Given the description of an element on the screen output the (x, y) to click on. 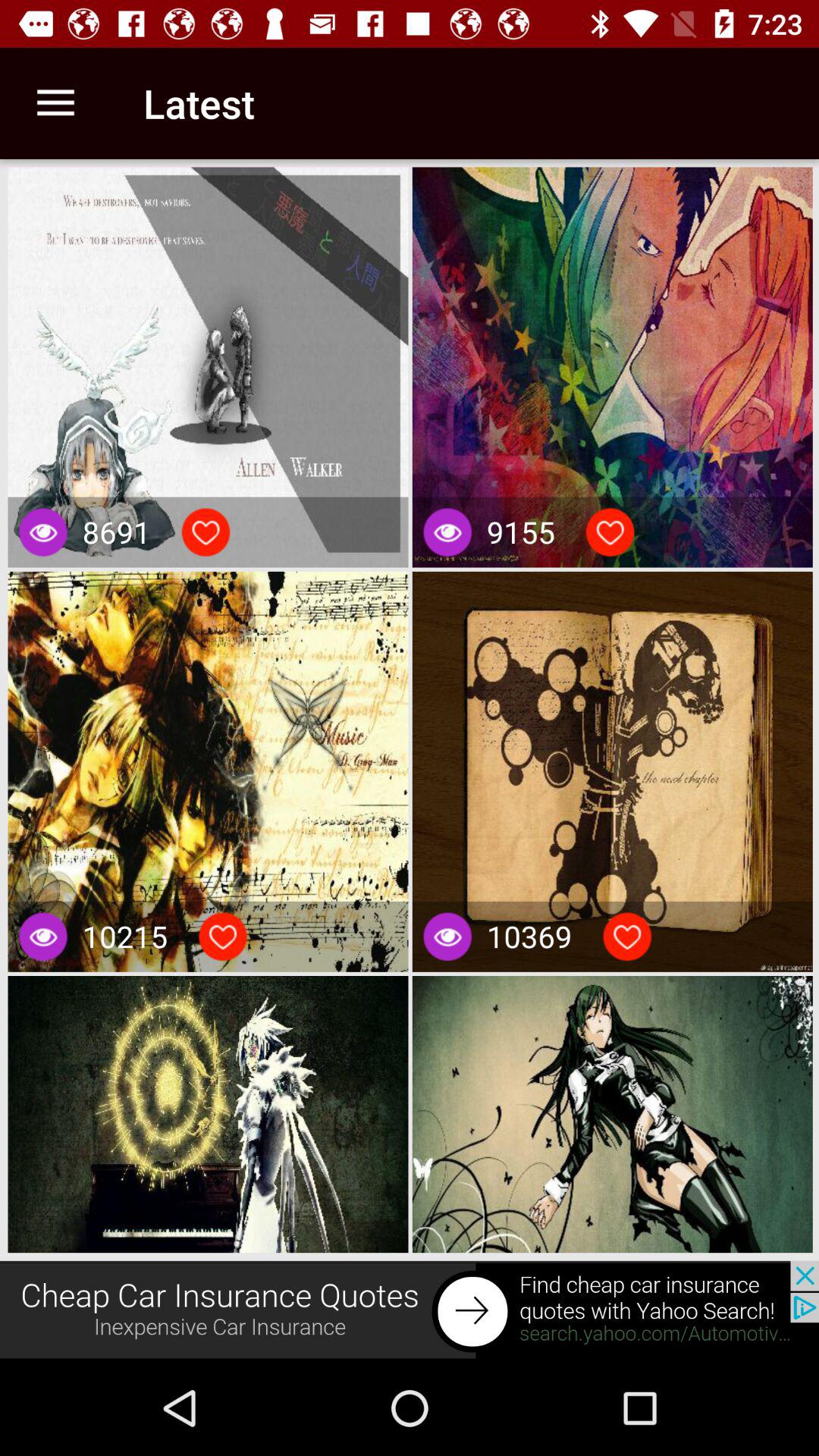
favorite user submission (222, 936)
